Given the description of an element on the screen output the (x, y) to click on. 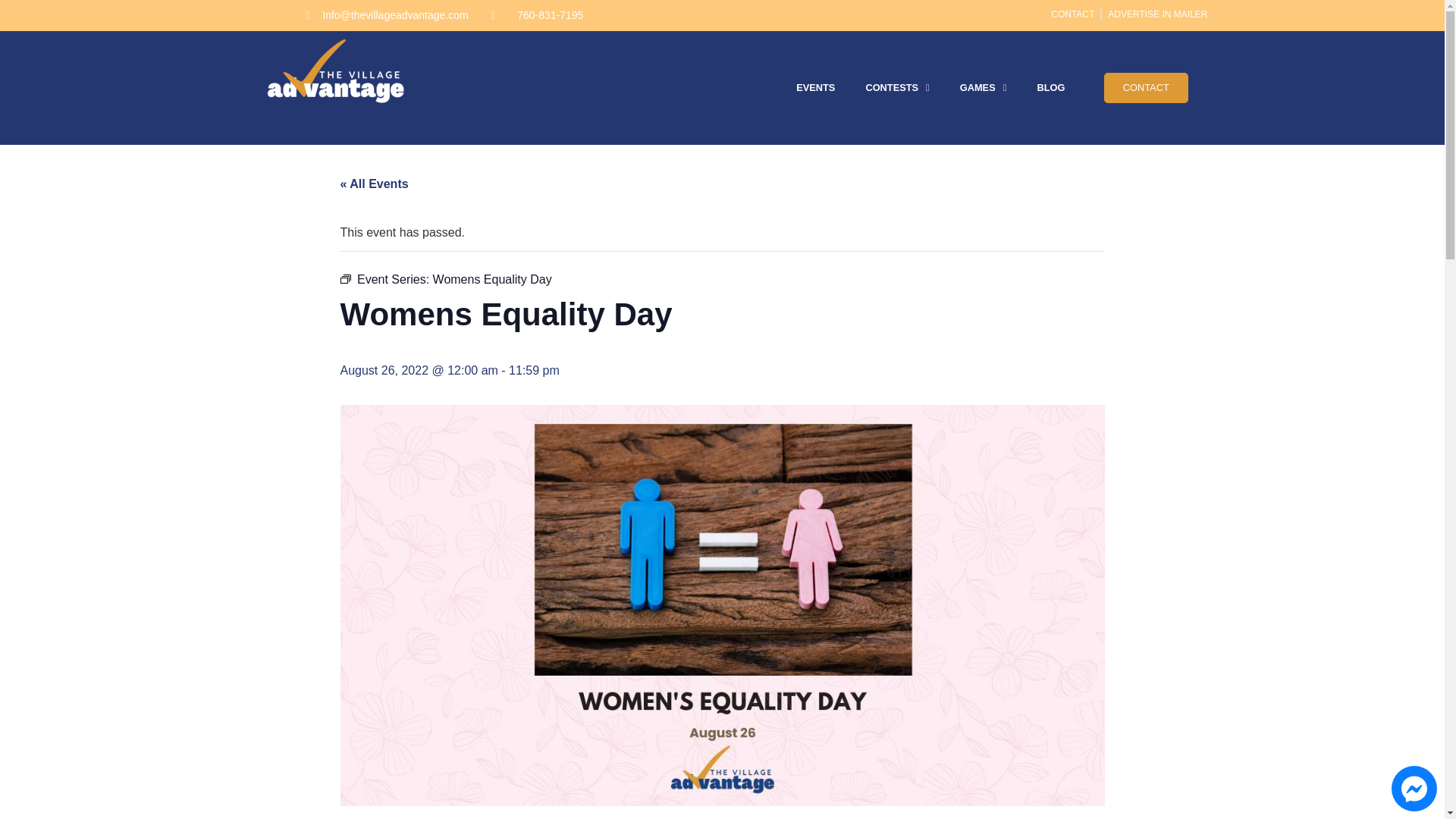
760-831-7195 (537, 15)
ADVERTISE IN MAILER (1157, 14)
CONTACT (1072, 14)
BLOG (1051, 87)
Event Series (344, 278)
EVENTS (815, 87)
CONTESTS (896, 87)
GAMES (983, 87)
